Given the description of an element on the screen output the (x, y) to click on. 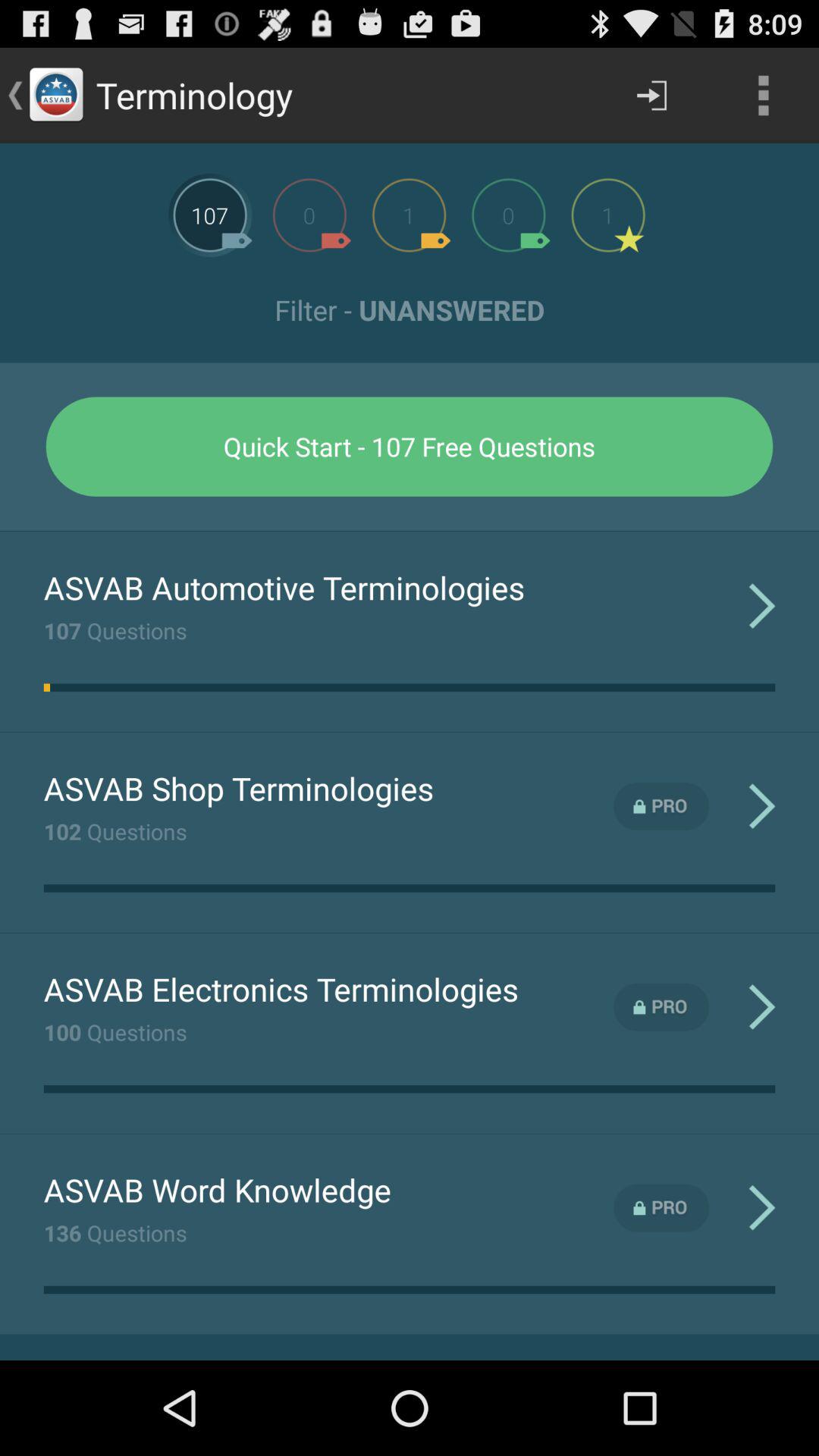
choose the item below the 107 questions app (46, 687)
